Given the description of an element on the screen output the (x, y) to click on. 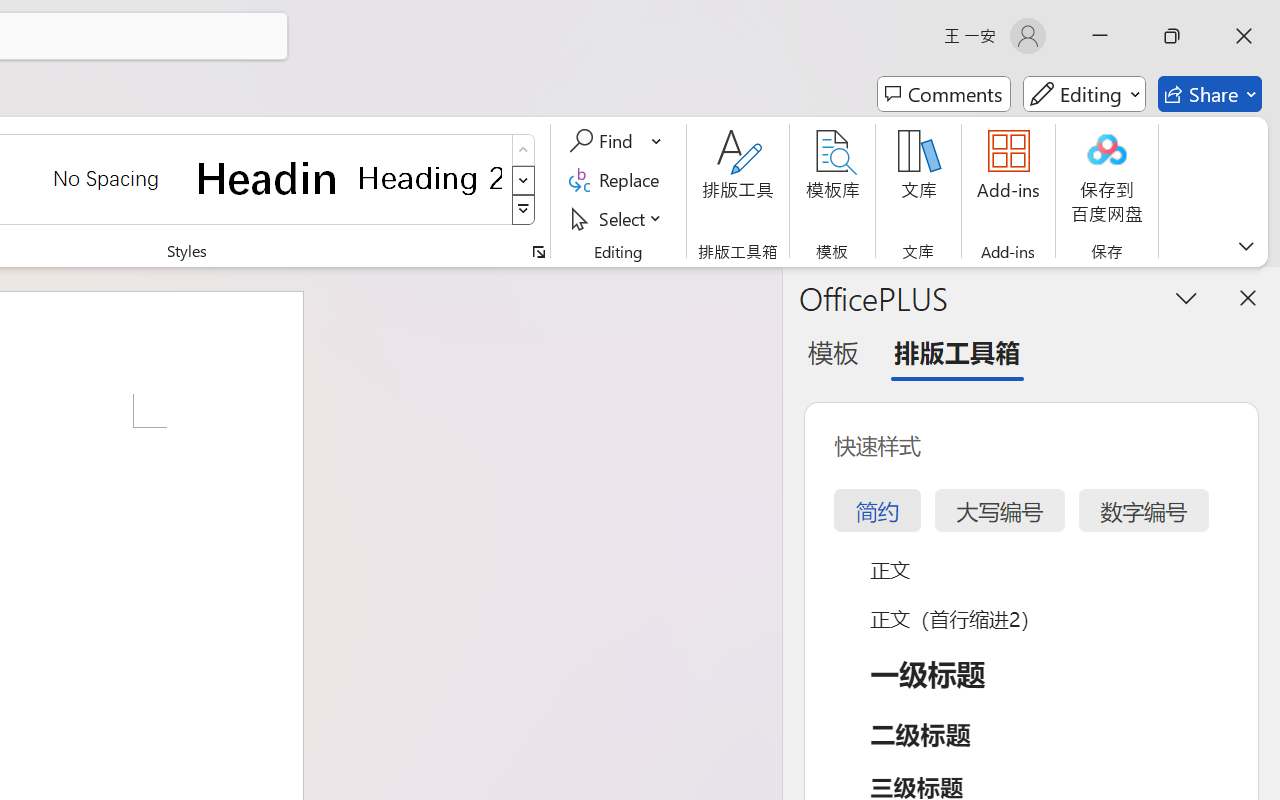
Task Pane Options (1186, 297)
